Given the description of an element on the screen output the (x, y) to click on. 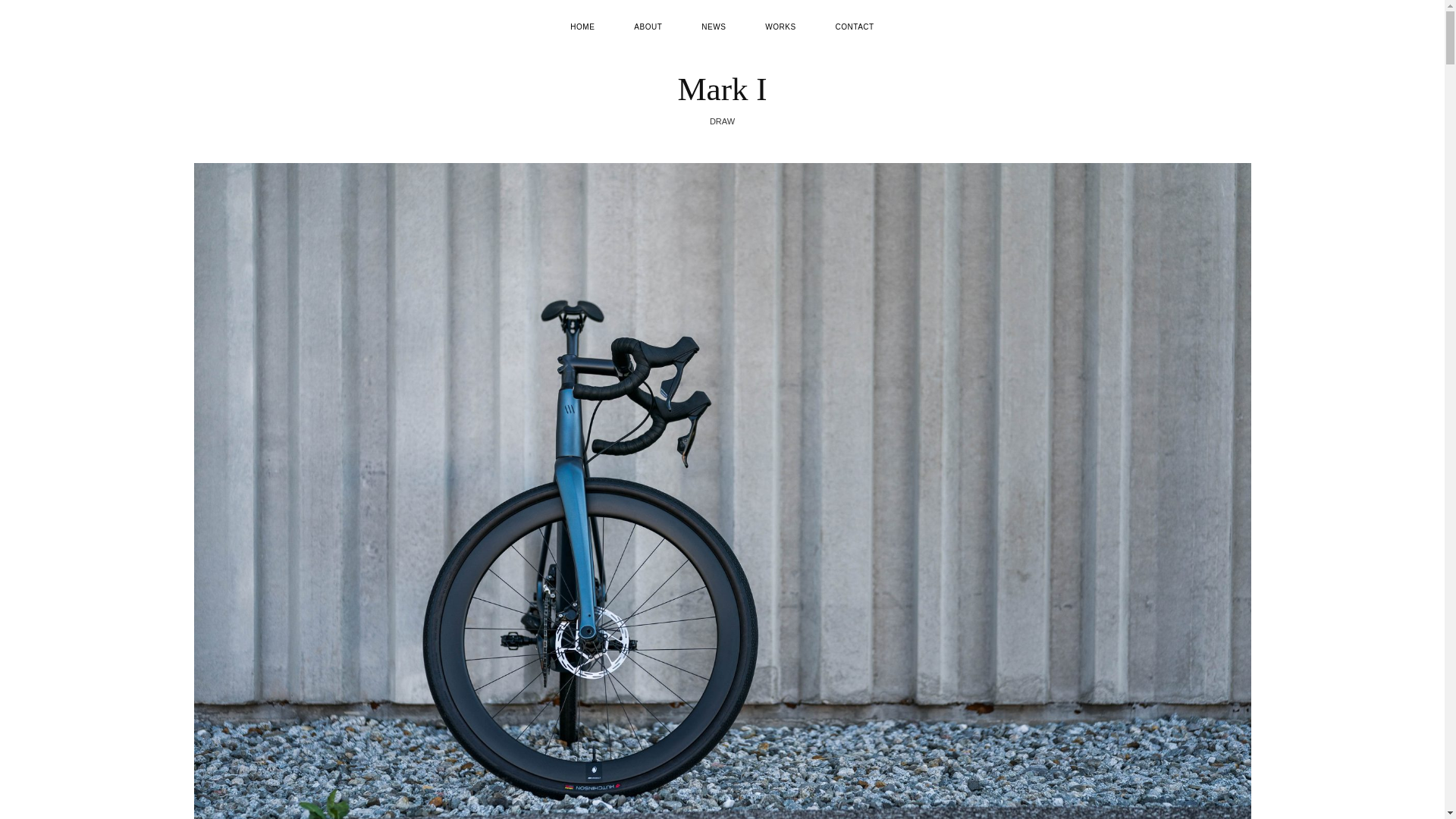
WORKS (780, 26)
CONTACT (854, 26)
HOME (582, 26)
COOKIE POLICY (758, 648)
PRIVACY POLICY (688, 648)
ABOUT (647, 26)
NEWS (713, 26)
